Given the description of an element on the screen output the (x, y) to click on. 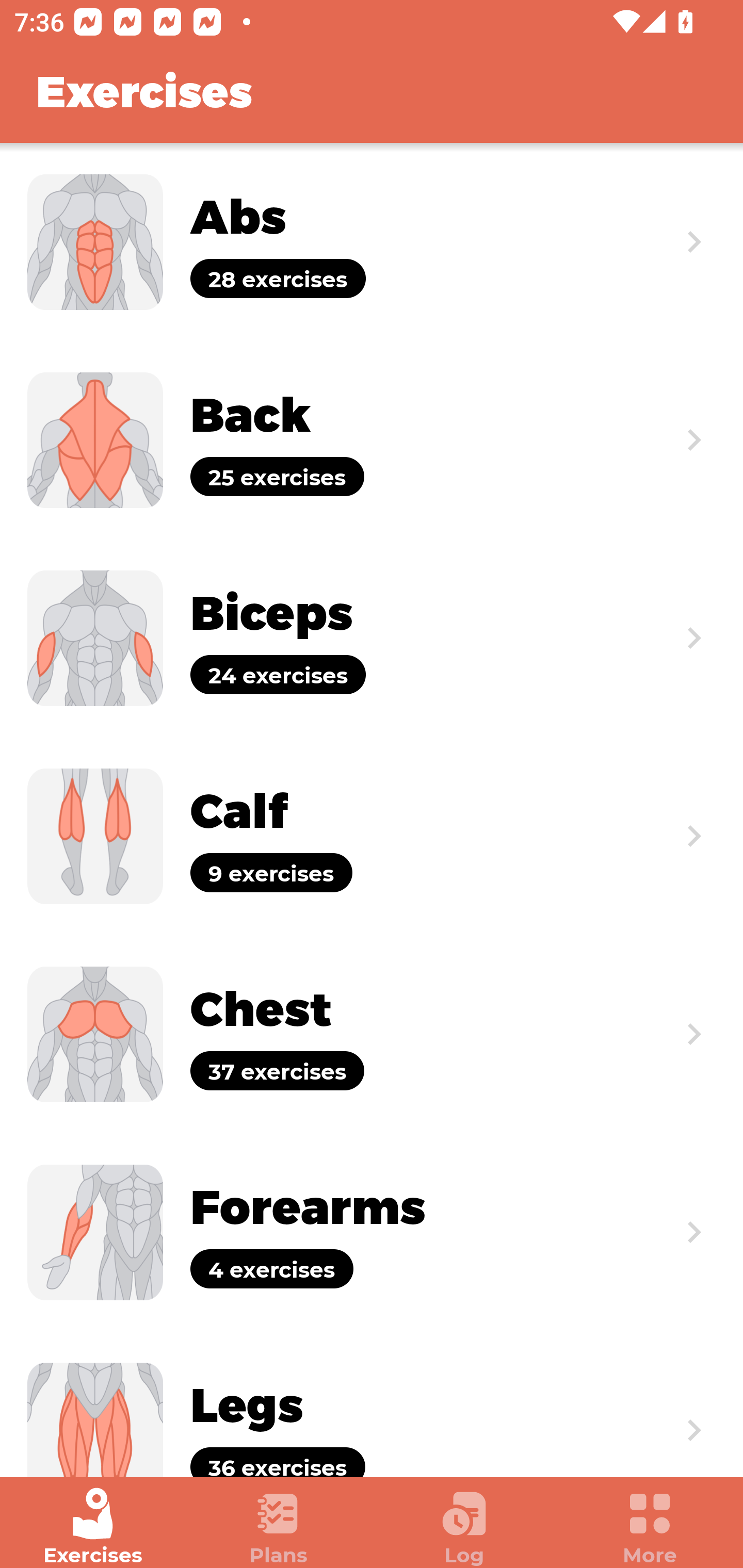
Exercise Abs 28 exercises (371, 241)
Exercise Back 25 exercises (371, 439)
Exercise Biceps 24 exercises (371, 637)
Exercise Calf 9 exercises (371, 836)
Exercise Chest 37 exercises (371, 1033)
Exercise Forearms 4 exercises (371, 1232)
Exercise Legs 36 exercises (371, 1404)
Exercises (92, 1527)
Plans (278, 1527)
Log (464, 1527)
More (650, 1527)
